Given the description of an element on the screen output the (x, y) to click on. 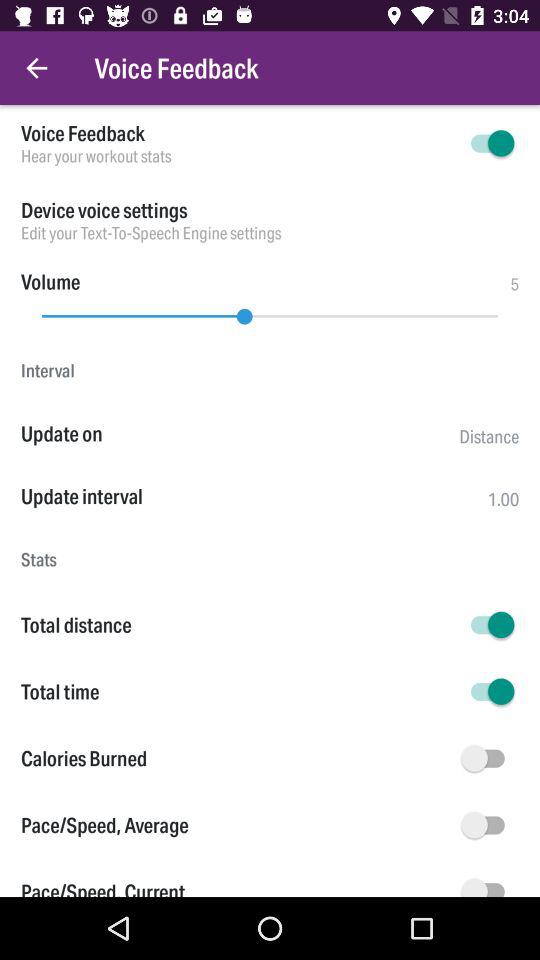
tap 5 (514, 283)
